Given the description of an element on the screen output the (x, y) to click on. 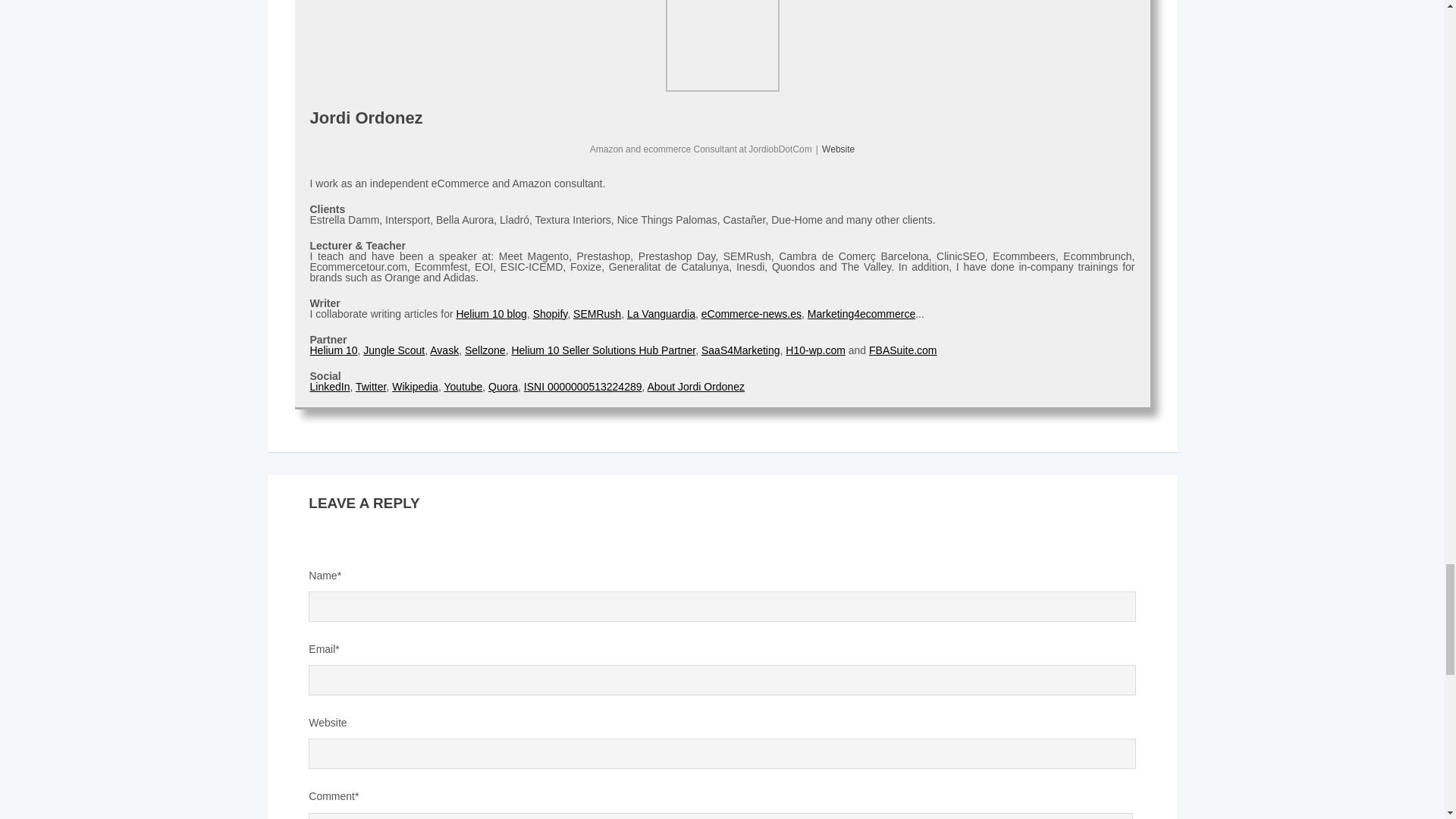
SEMRush (597, 313)
Marketing4ecommerce (861, 313)
La Vanguardia (661, 313)
Helium 10 (332, 349)
eCommerce-news.es (751, 313)
Website (838, 149)
Shopify (549, 313)
Helium 10 blog (490, 313)
